Given the description of an element on the screen output the (x, y) to click on. 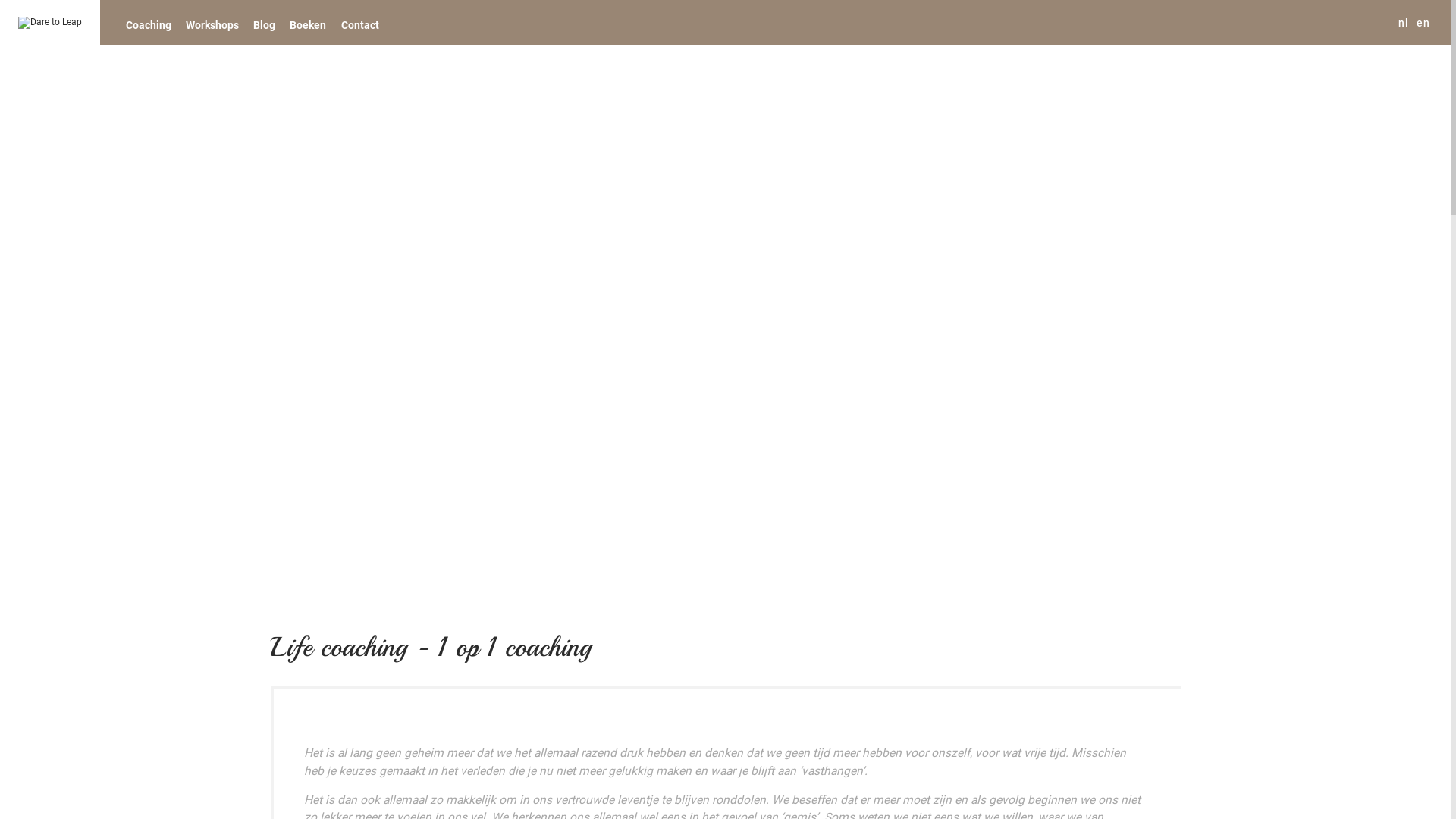
en Element type: text (1422, 22)
Contact Element type: text (359, 24)
Dare to Leap Element type: hover (49, 22)
Blog Element type: text (264, 24)
Coaching Element type: text (148, 24)
nl Element type: text (1403, 22)
Boeken Element type: text (307, 24)
Workshops Element type: text (211, 24)
